Given the description of an element on the screen output the (x, y) to click on. 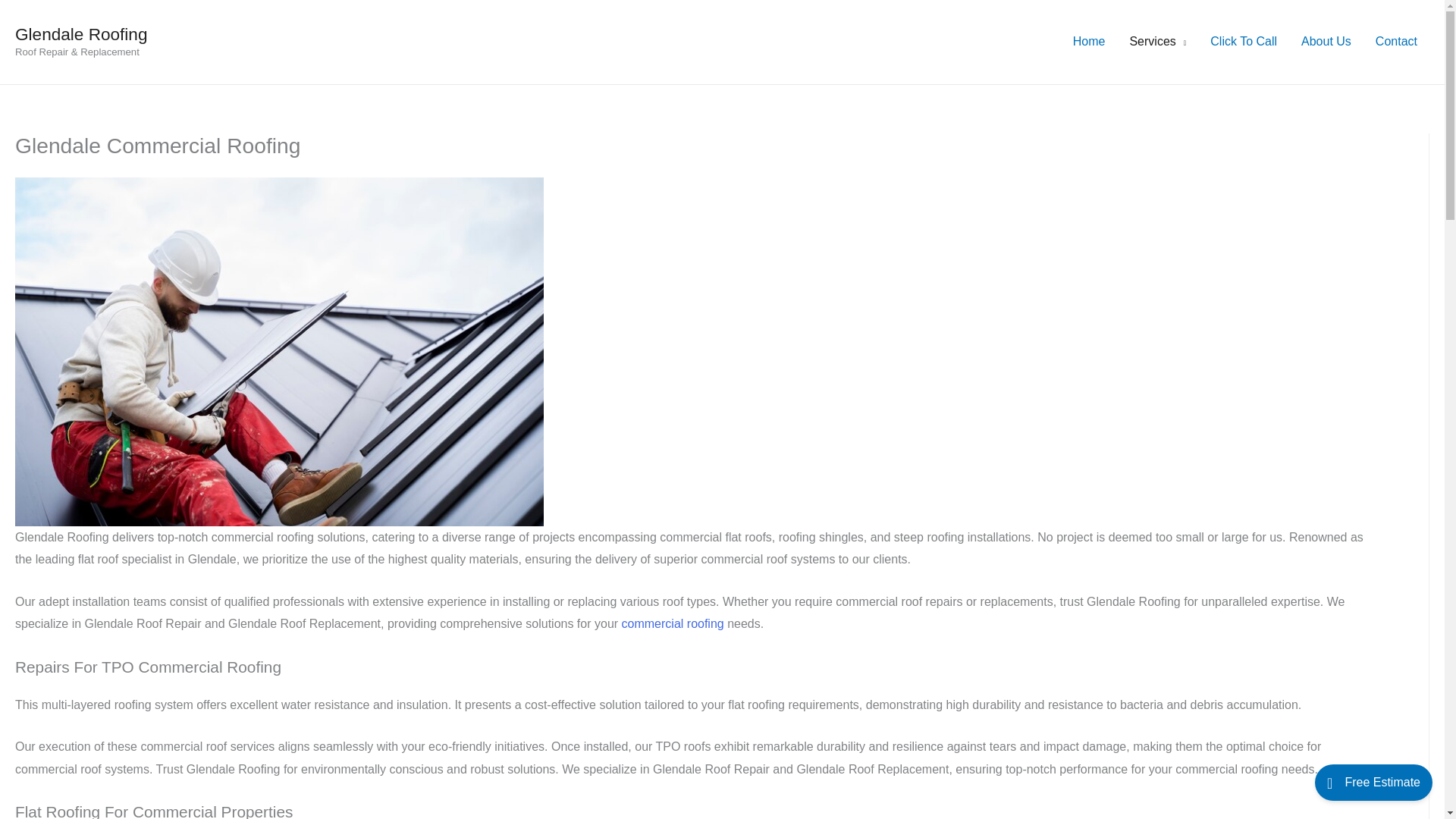
Contact (1395, 41)
Click To Call (1243, 41)
Glendale Roofing (80, 34)
commercial roofing (672, 623)
About Us (1325, 41)
Services (1157, 41)
Home (1089, 41)
